Given the description of an element on the screen output the (x, y) to click on. 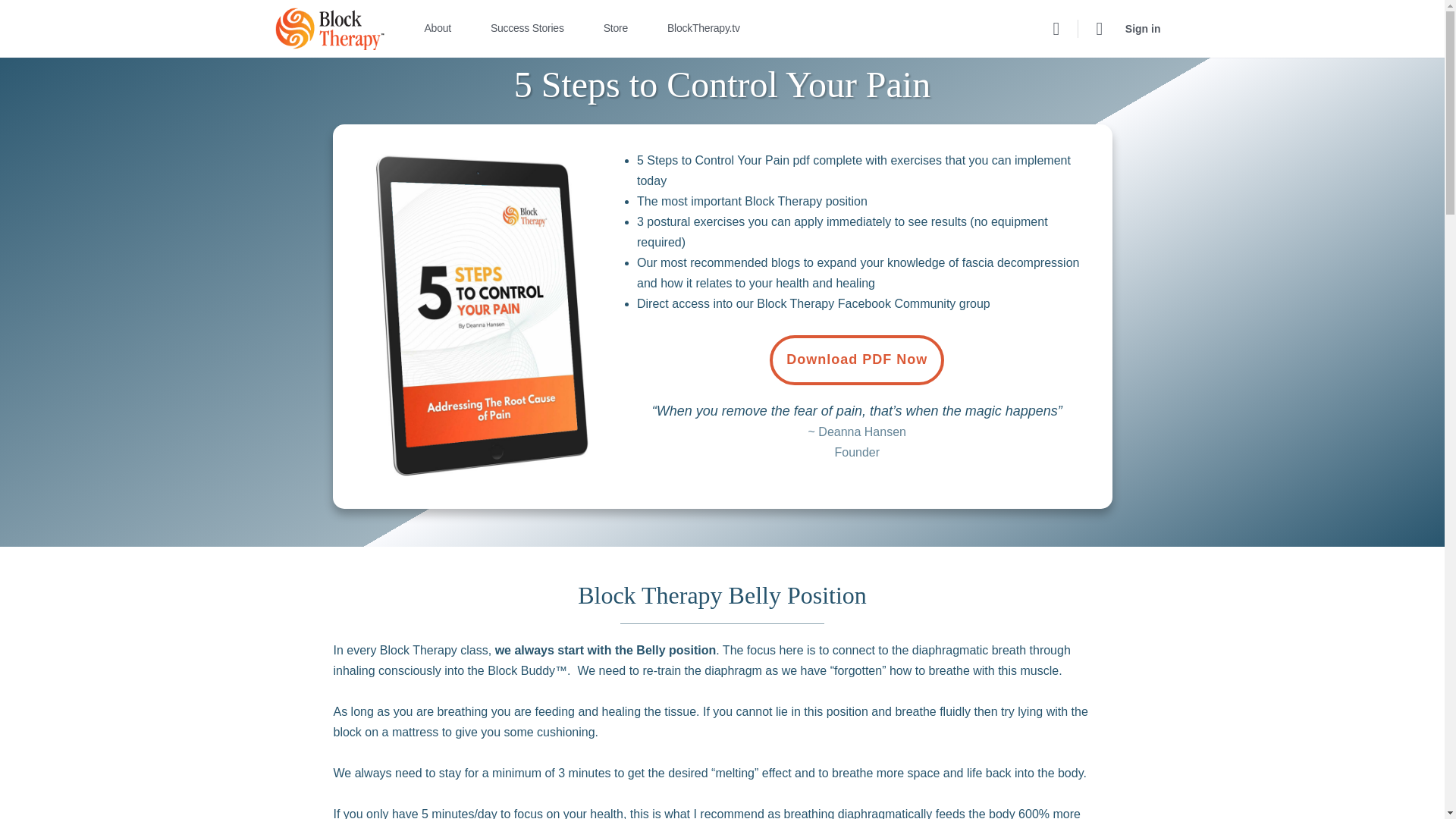
About (443, 28)
BlockTherapy.tv (709, 28)
Store (621, 28)
Success Stories (534, 28)
